Given the description of an element on the screen output the (x, y) to click on. 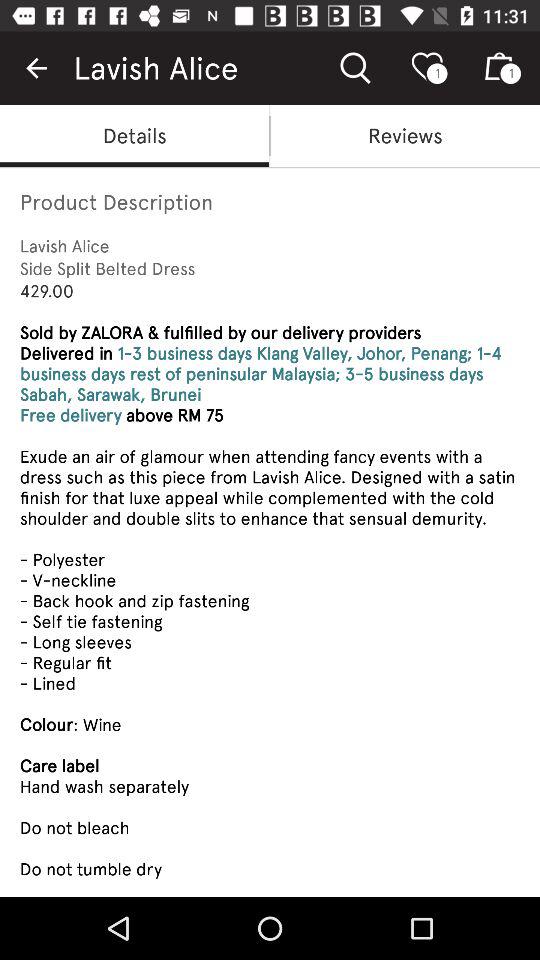
press the icon above the details item (36, 68)
